Given the description of an element on the screen output the (x, y) to click on. 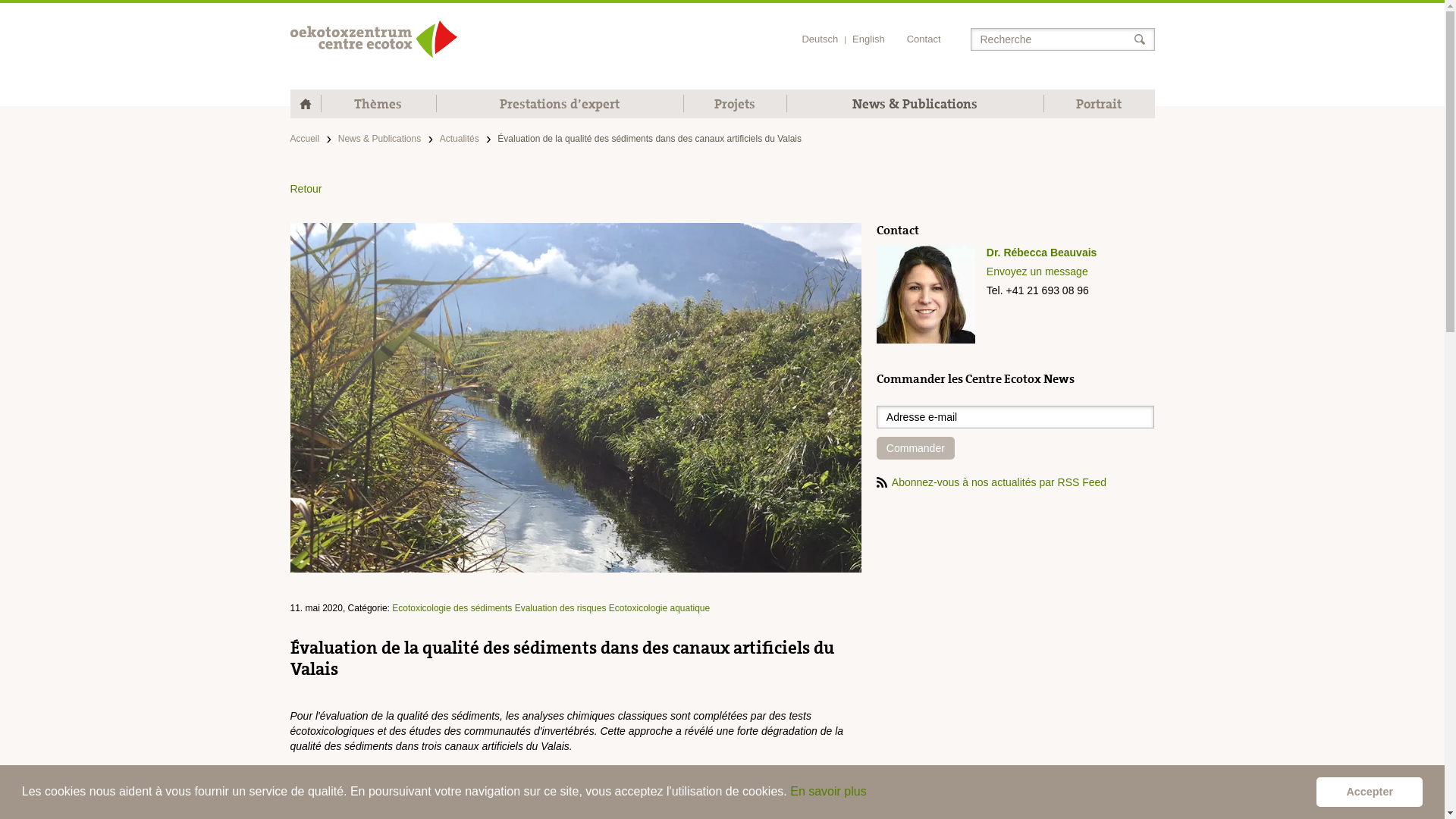
Commander Element type: text (915, 447)
Deutsch Element type: text (819, 38)
Contact Element type: text (923, 38)
Accueil Element type: hover (372, 38)
Portrait Element type: text (1098, 103)
News & Publications Element type: text (379, 138)
Chercher Element type: text (1144, 39)
En savoir plus Element type: text (828, 790)
Accueil Element type: text (304, 138)
Home Element type: text (304, 103)
Envoyez un message Element type: text (1070, 271)
Ecotoxicologie aquatique Element type: text (658, 607)
Projets Element type: text (734, 103)
News & Publications Element type: text (914, 103)
Retour Element type: text (721, 188)
Accepter Element type: text (1369, 791)
English Element type: text (868, 38)
Evaluation des risques Element type: text (560, 607)
